Given the description of an element on the screen output the (x, y) to click on. 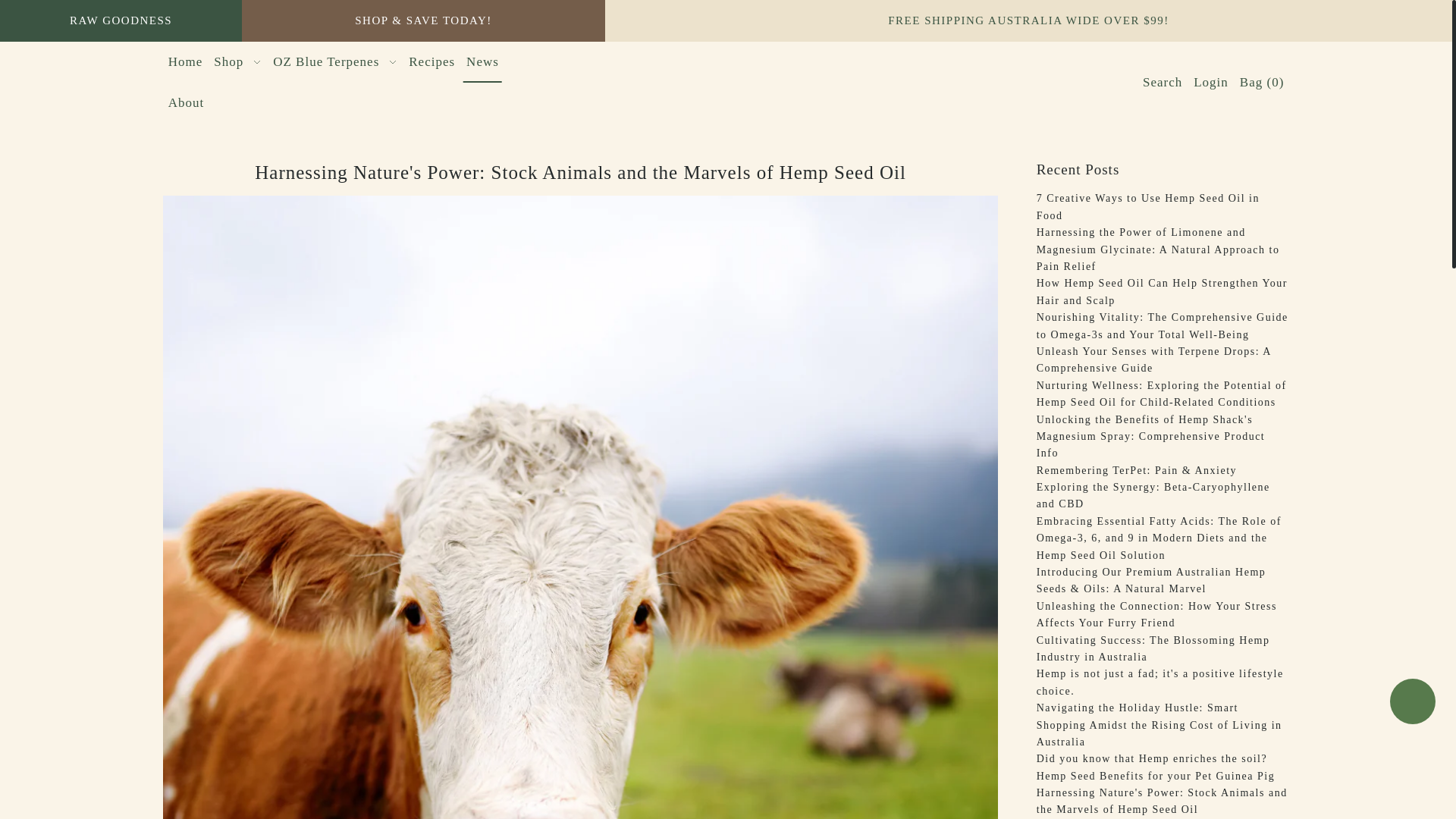
Shop (237, 60)
Recipes (432, 60)
OZ Blue Terpenes (335, 60)
7 Creative Ways to Use Hemp Seed Oil in Food (1147, 206)
Search (1162, 81)
Did you know that Hemp enriches the soil? (1152, 758)
About (186, 102)
